Given the description of an element on the screen output the (x, y) to click on. 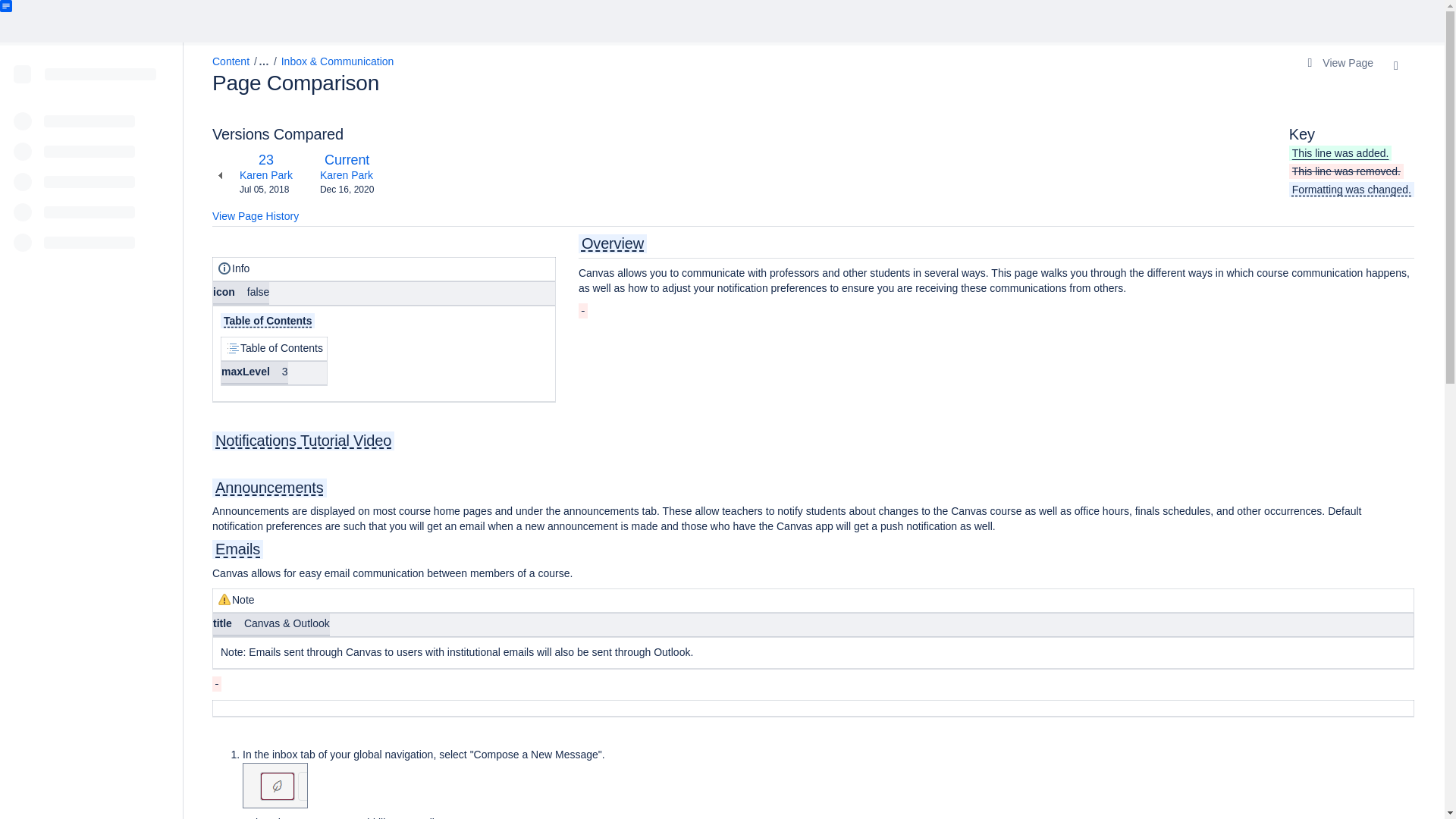
Content (230, 61)
View Page History (255, 216)
Karen Park (346, 174)
Show all breadcrumbs (266, 159)
Karen Park (347, 159)
View Page (258, 61)
Compose a new message icon (266, 174)
